Given the description of an element on the screen output the (x, y) to click on. 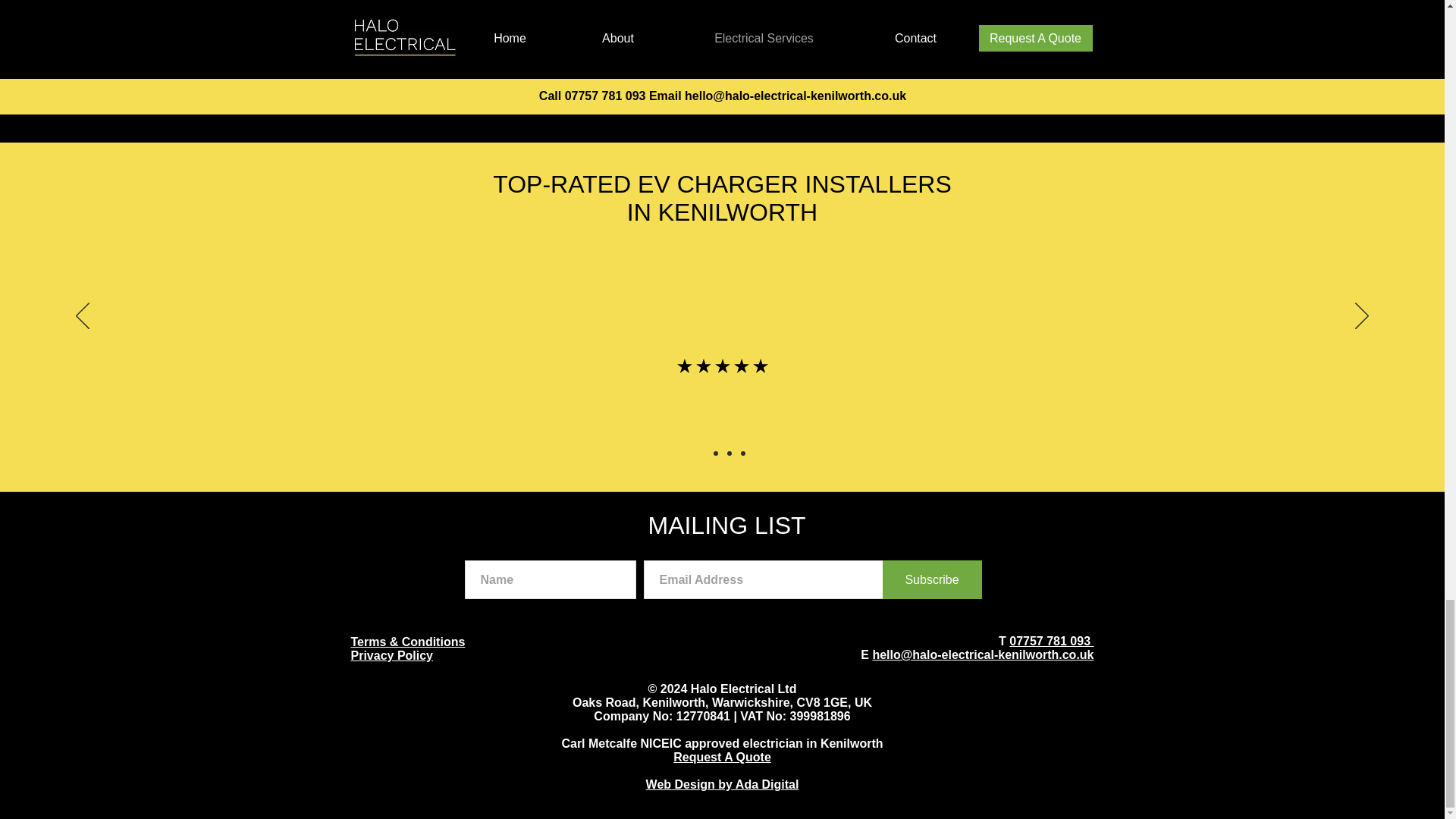
Free Quote (720, 79)
